Given the description of an element on the screen output the (x, y) to click on. 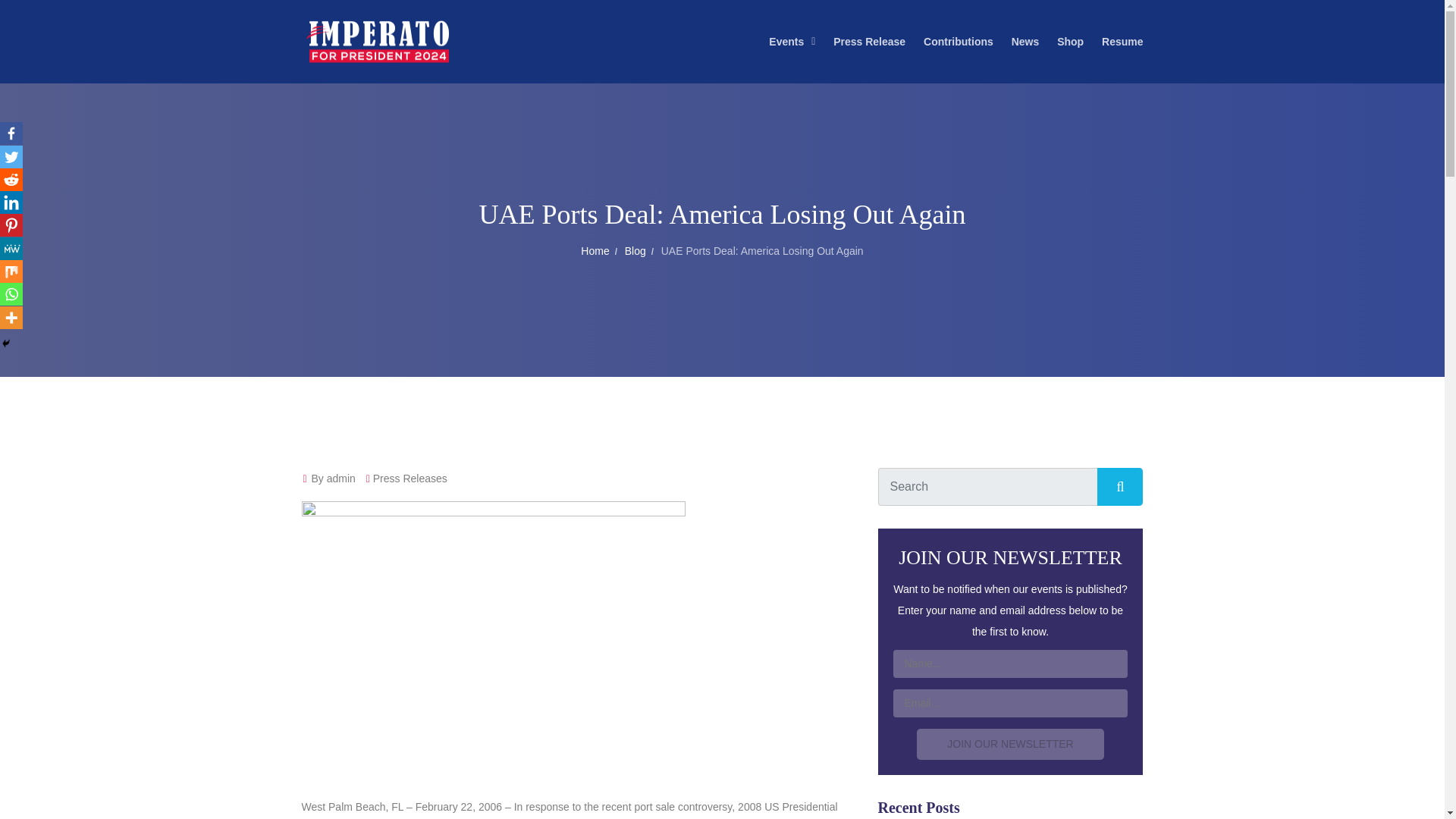
Blog (635, 250)
Events (785, 41)
Resume (1122, 41)
Press Releases (409, 478)
Mix (11, 271)
JOIN OUR NEWSLETTER (1009, 744)
Linkedin (11, 201)
Reddit (11, 179)
Home (594, 250)
Press Release (868, 41)
By admin (328, 478)
Facebook (11, 133)
News (1025, 41)
Whatsapp (11, 293)
Contributions (957, 41)
